Given the description of an element on the screen output the (x, y) to click on. 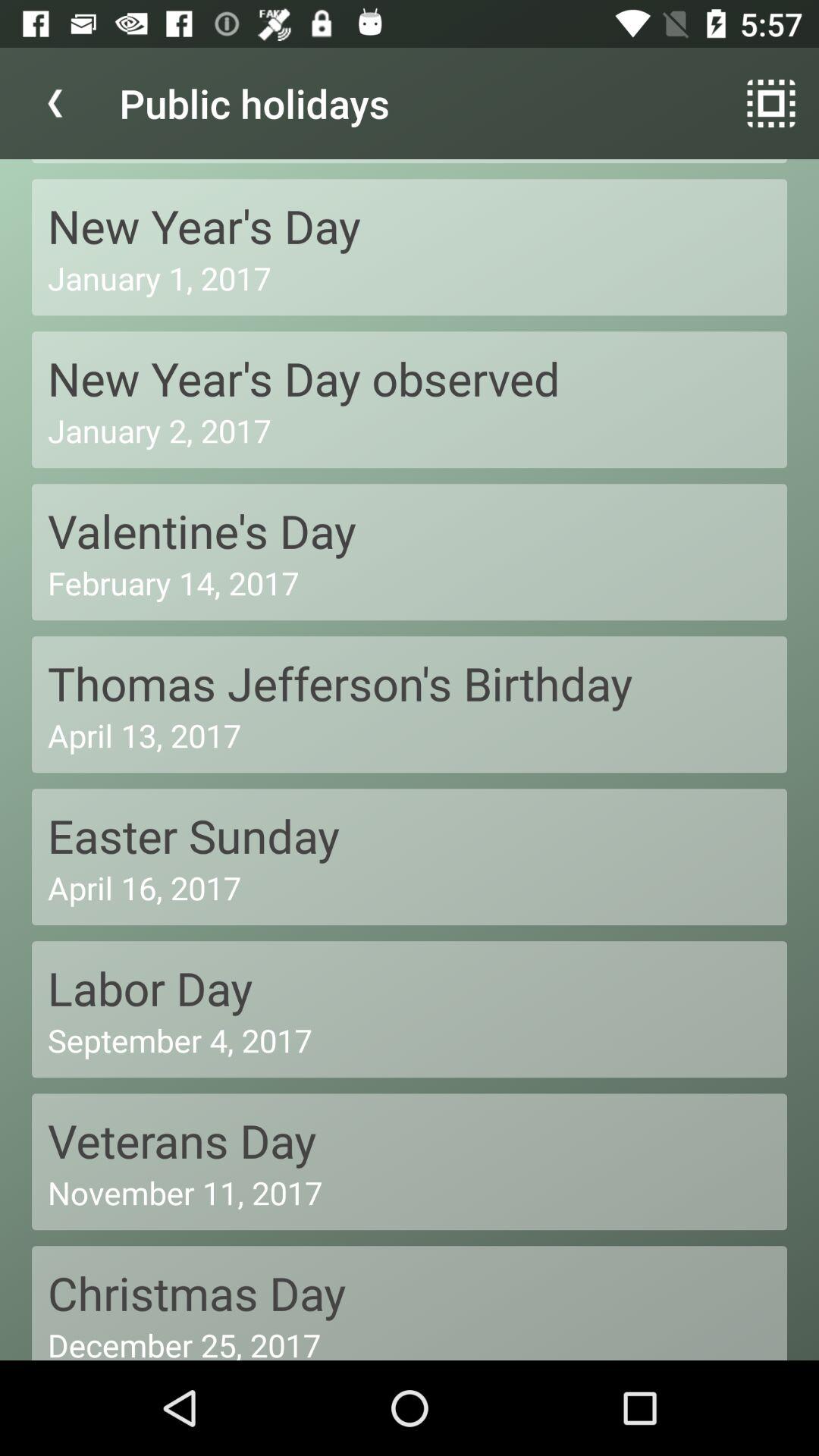
choose the september 4, 2017 item (409, 1039)
